Given the description of an element on the screen output the (x, y) to click on. 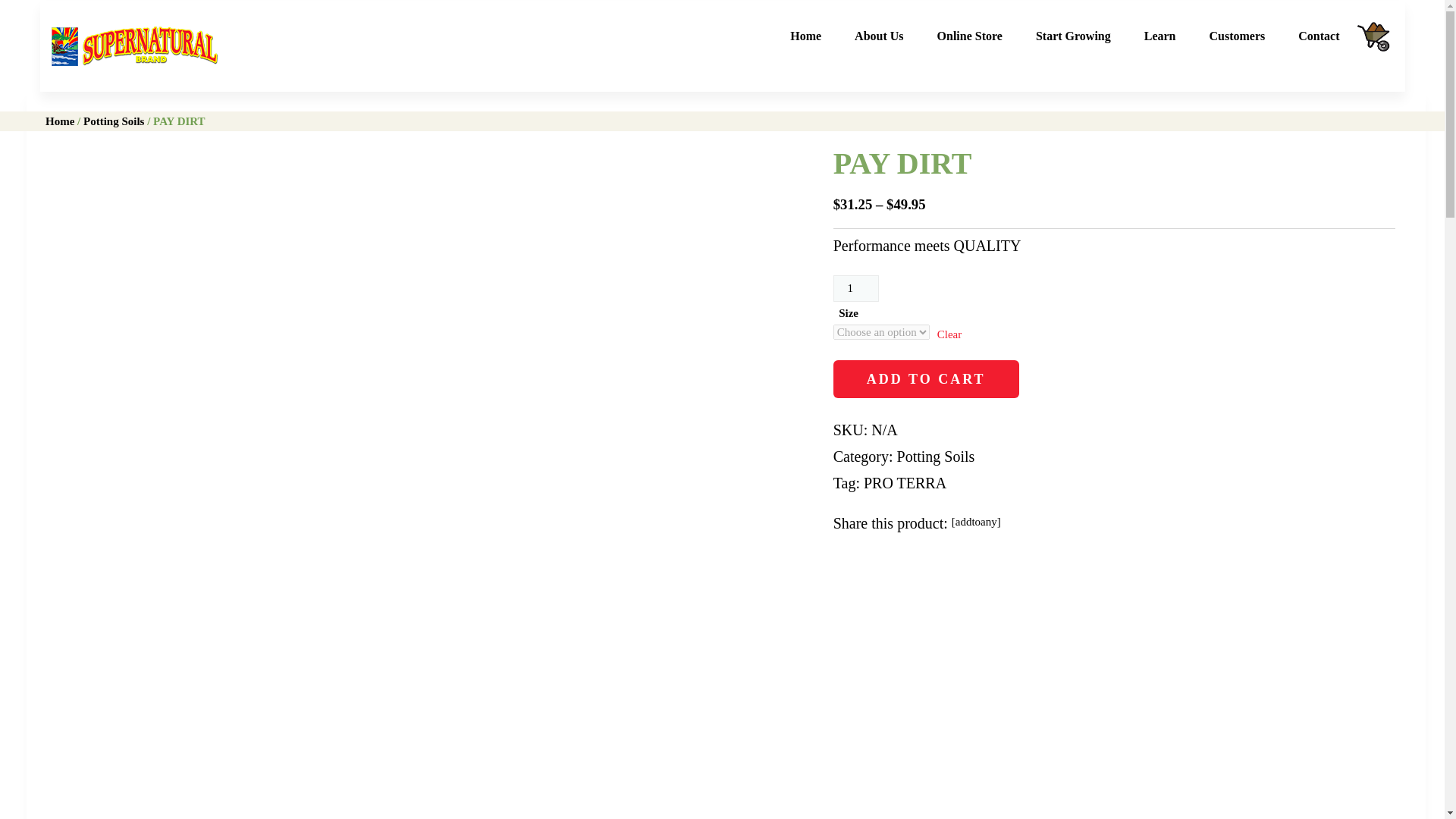
Home (805, 36)
Online Store (969, 36)
Qty (855, 288)
1 (855, 288)
Start Growing (1072, 36)
About Us (879, 36)
